Given the description of an element on the screen output the (x, y) to click on. 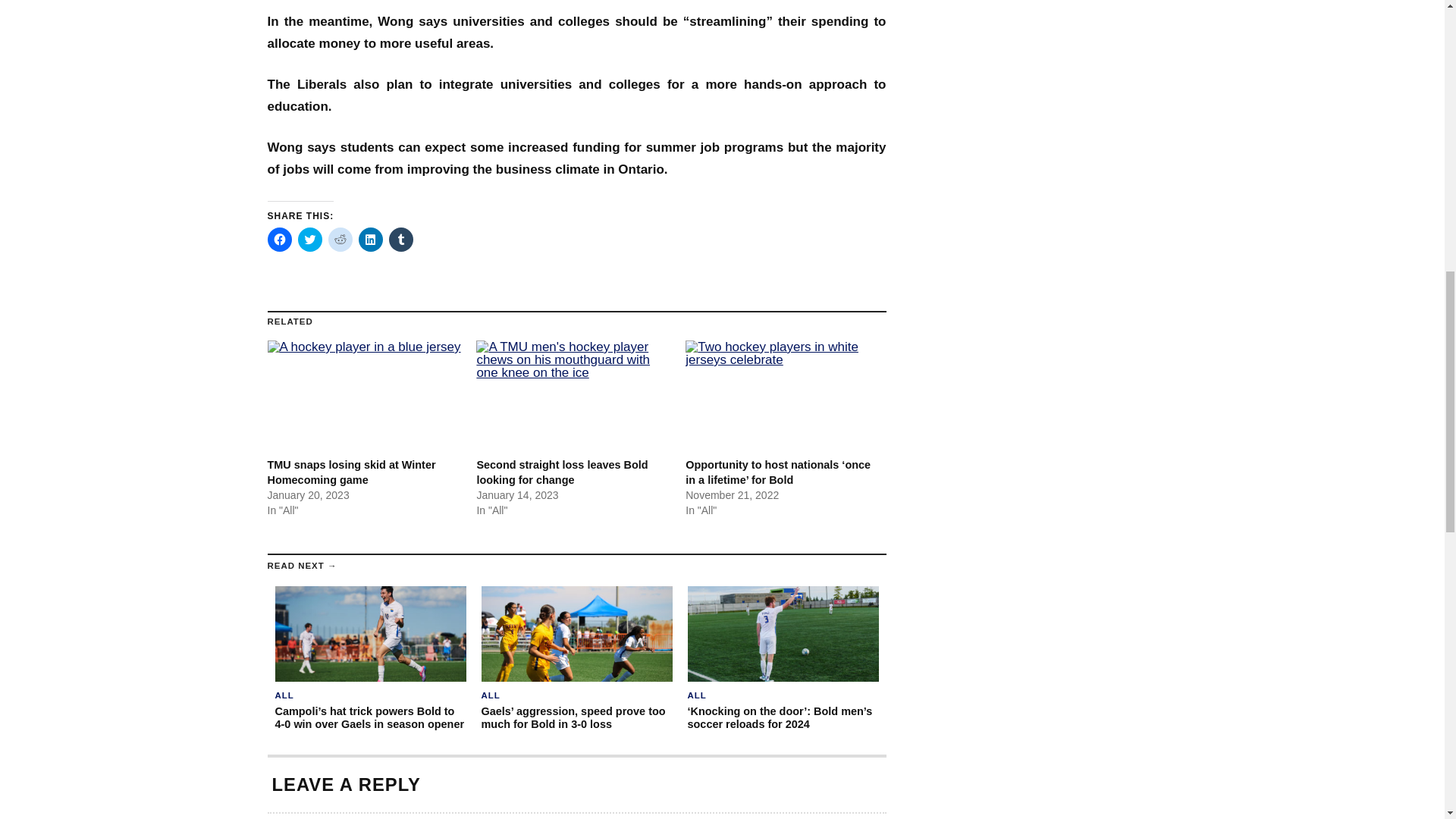
Click to share on LinkedIn (369, 239)
Click to share on Reddit (339, 239)
Click to share on Twitter (309, 239)
Click to share on Facebook (278, 239)
TMU snaps losing skid at Winter Homecoming game (363, 395)
TMU snaps losing skid at Winter Homecoming game (350, 472)
Second straight loss leaves Bold looking for change (572, 395)
Second straight loss leaves Bold looking for change (561, 472)
Click to share on Tumblr (400, 239)
